Given the description of an element on the screen output the (x, y) to click on. 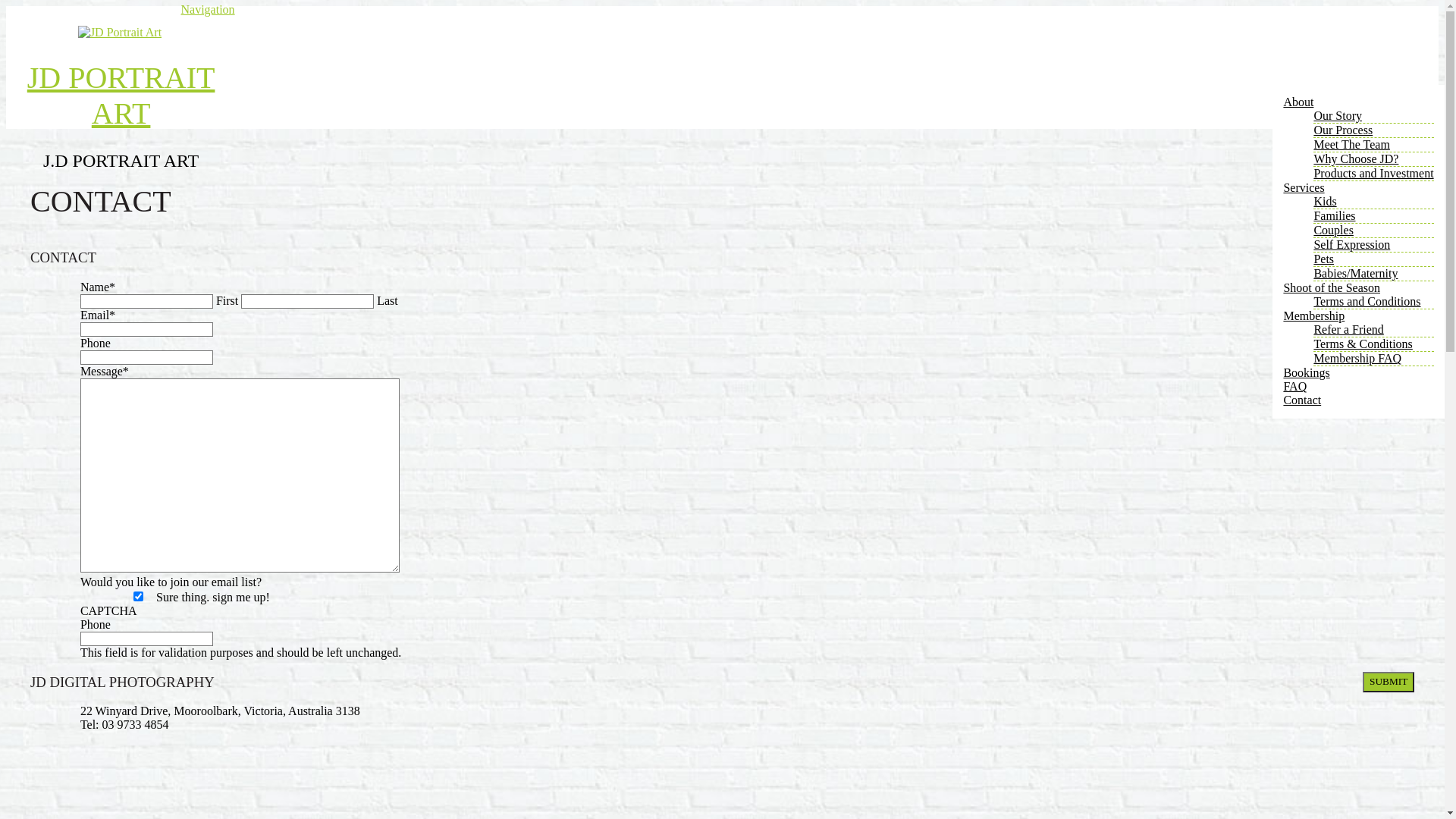
Kids Element type: text (1324, 200)
Membership FAQ Element type: text (1357, 357)
Treat yourself... Element type: hover (119, 32)
Self Expression Element type: text (1351, 244)
Contact Element type: text (1302, 399)
Meet The Team Element type: text (1351, 144)
Navigation Element type: text (207, 9)
Our Process Element type: text (1342, 129)
Why Choose JD? Element type: text (1355, 158)
FAQ Element type: text (1294, 385)
Products and Investment Element type: text (1373, 172)
Couples Element type: text (1332, 229)
Families Element type: text (1334, 215)
Babies/Maternity Element type: text (1355, 272)
Pets Element type: text (1323, 258)
Membership Element type: text (1313, 315)
Refer a Friend Element type: text (1348, 329)
Our Story Element type: text (1337, 115)
Terms & Conditions Element type: text (1362, 343)
About Element type: text (1298, 101)
Terms and Conditions Element type: text (1366, 300)
Bookings Element type: text (1306, 372)
Services Element type: text (1303, 187)
JD PORTRAIT ART Element type: text (121, 95)
Submit Element type: text (1388, 681)
Shoot of the Season Element type: text (1331, 287)
